Given the description of an element on the screen output the (x, y) to click on. 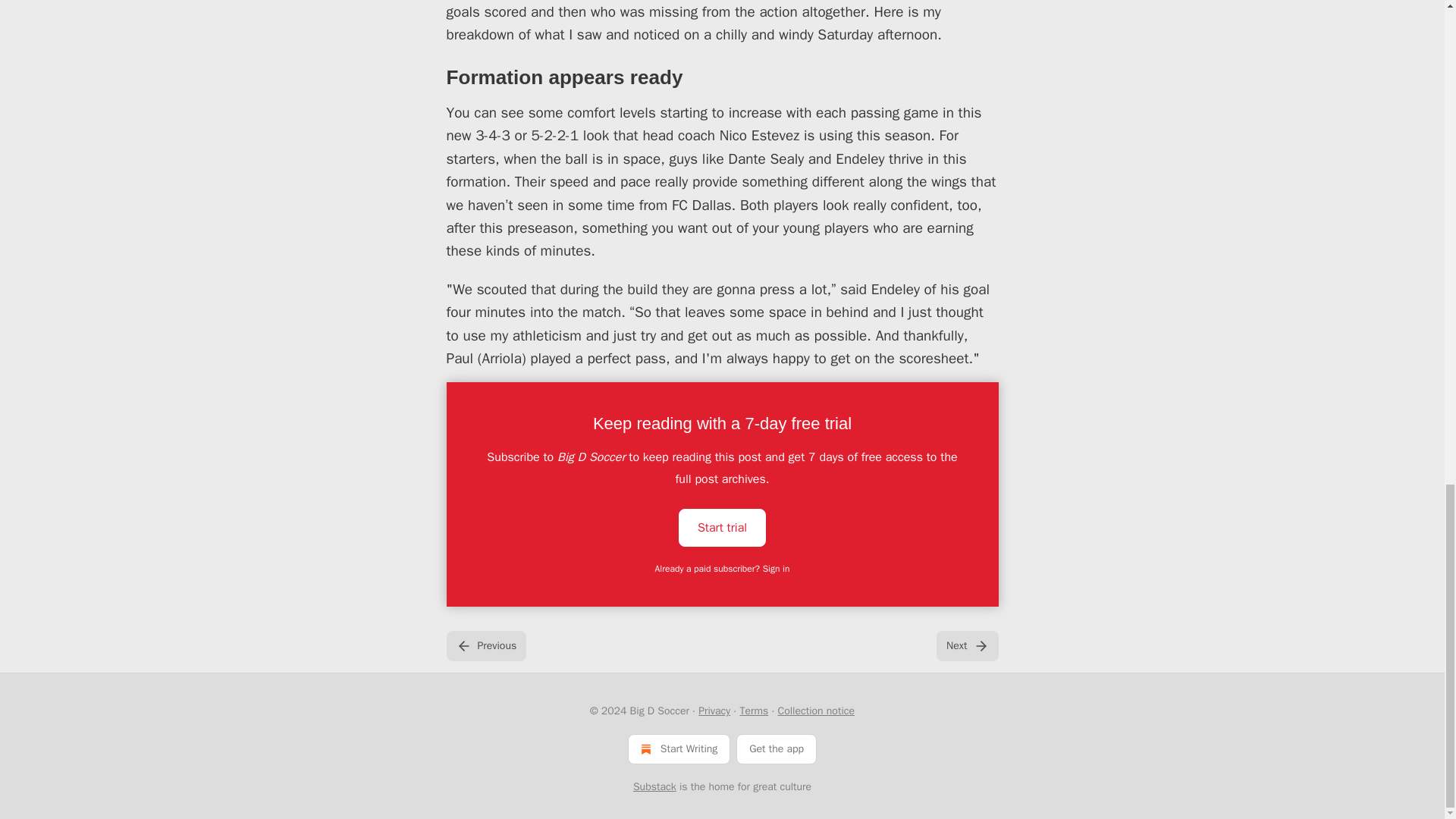
Get the app (776, 748)
Substack (655, 786)
Privacy (714, 710)
Start trial (721, 527)
Start Writing (678, 748)
Previous (485, 645)
Terms (753, 710)
Already a paid subscriber? Sign in (722, 568)
Next (966, 645)
Start trial (721, 526)
Collection notice (815, 710)
